Given the description of an element on the screen output the (x, y) to click on. 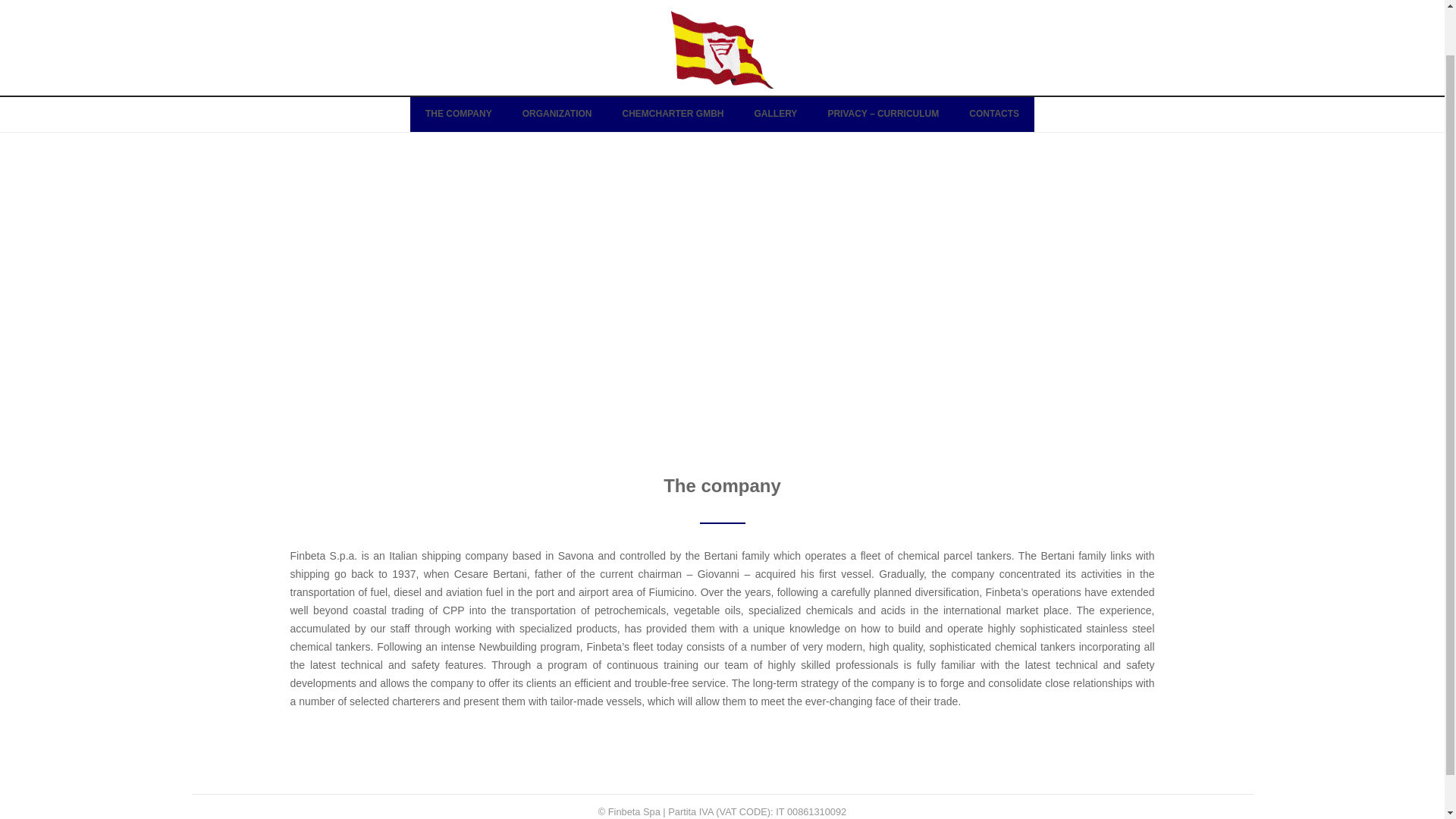
CONTACTS (993, 63)
THE COMPANY (458, 63)
ORGANIZATION (556, 63)
CHEMCHARTER GMBH (672, 63)
GALLERY (775, 63)
